Given the description of an element on the screen output the (x, y) to click on. 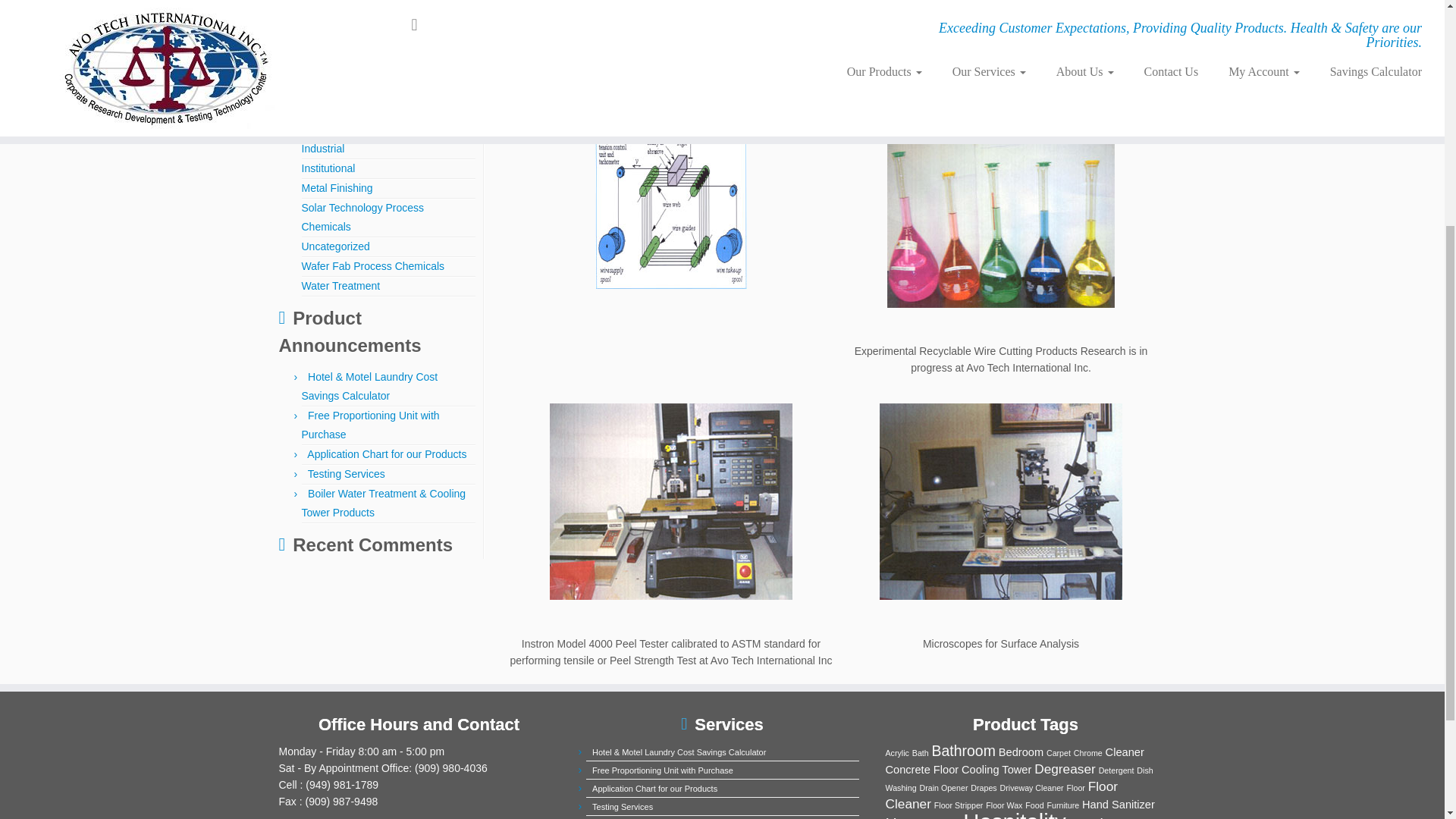
solar200de42 (670, 207)
2de42 (1000, 526)
bottles300de42 (1000, 250)
1de42 (670, 526)
